Given the description of an element on the screen output the (x, y) to click on. 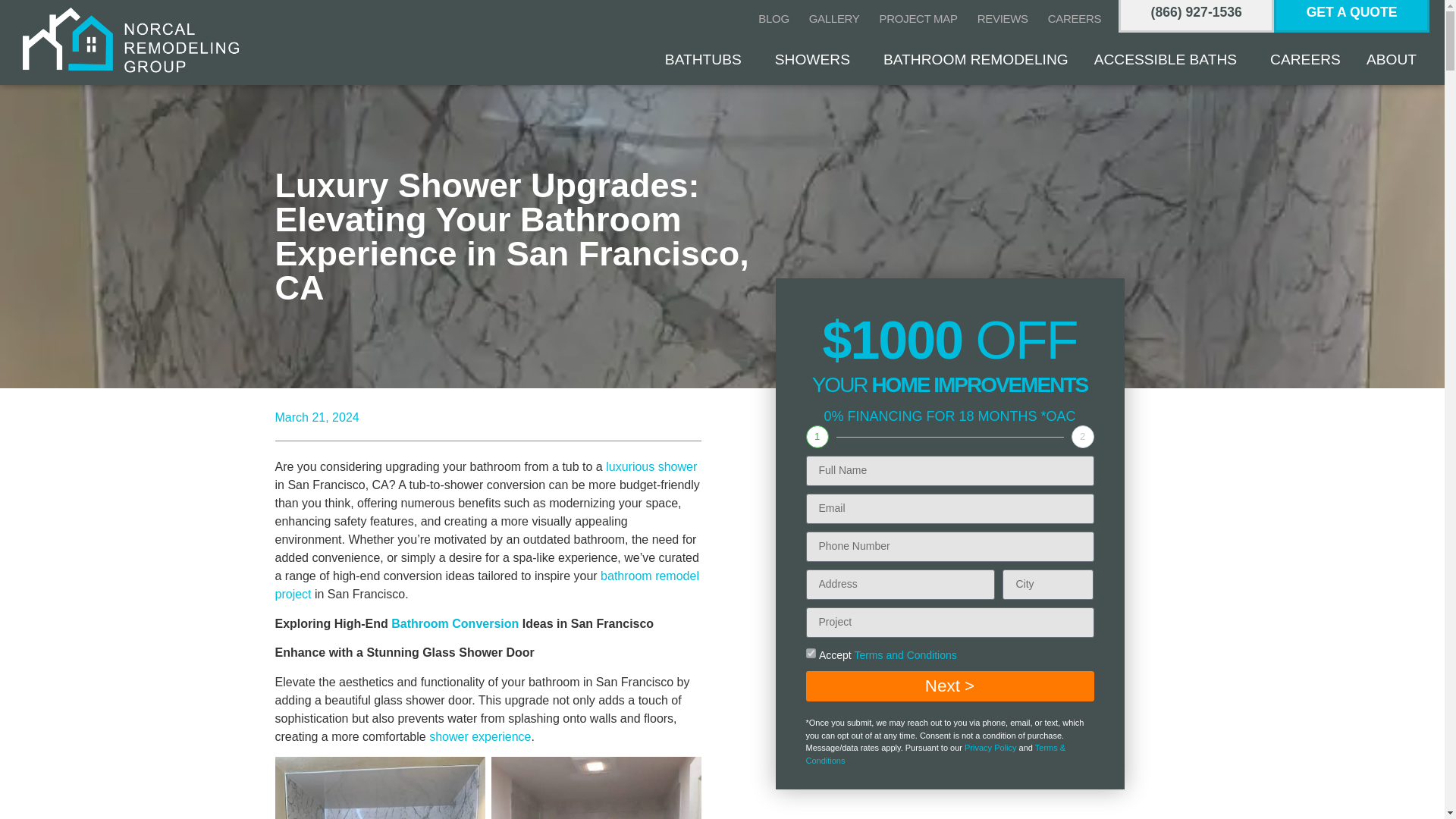
on (810, 653)
